Given the description of an element on the screen output the (x, y) to click on. 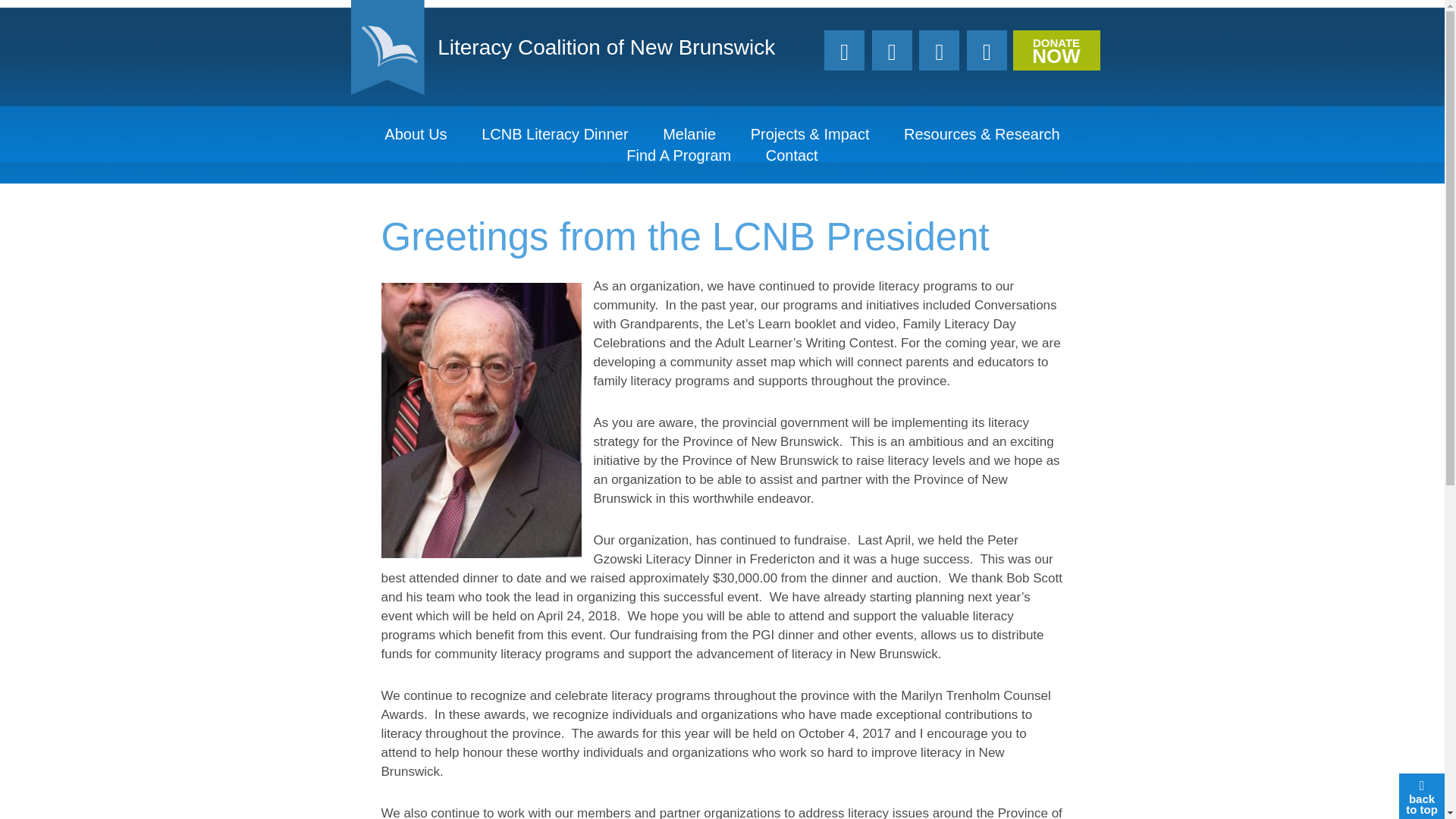
LCNB Literacy Dinner (579, 47)
About Us (554, 133)
